Given the description of an element on the screen output the (x, y) to click on. 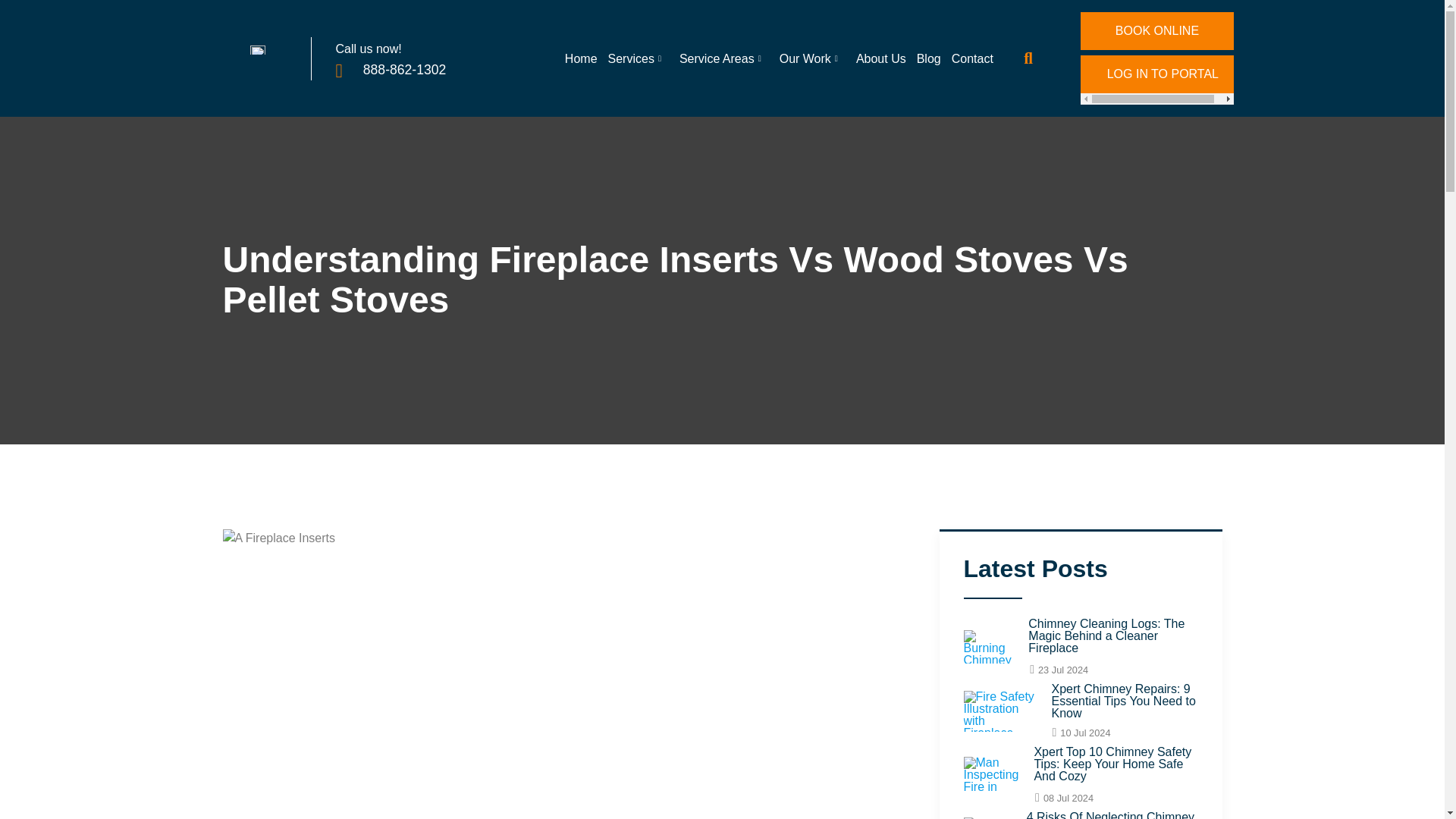
Home (575, 67)
Xpert chimney repairs: 9 essential tips you need to know 2 (998, 711)
4 risks of neglecting chimney sweeping and maintenance 4 (986, 818)
Service Areas (718, 67)
Services (632, 67)
888-862-1302 (408, 69)
